Given the description of an element on the screen output the (x, y) to click on. 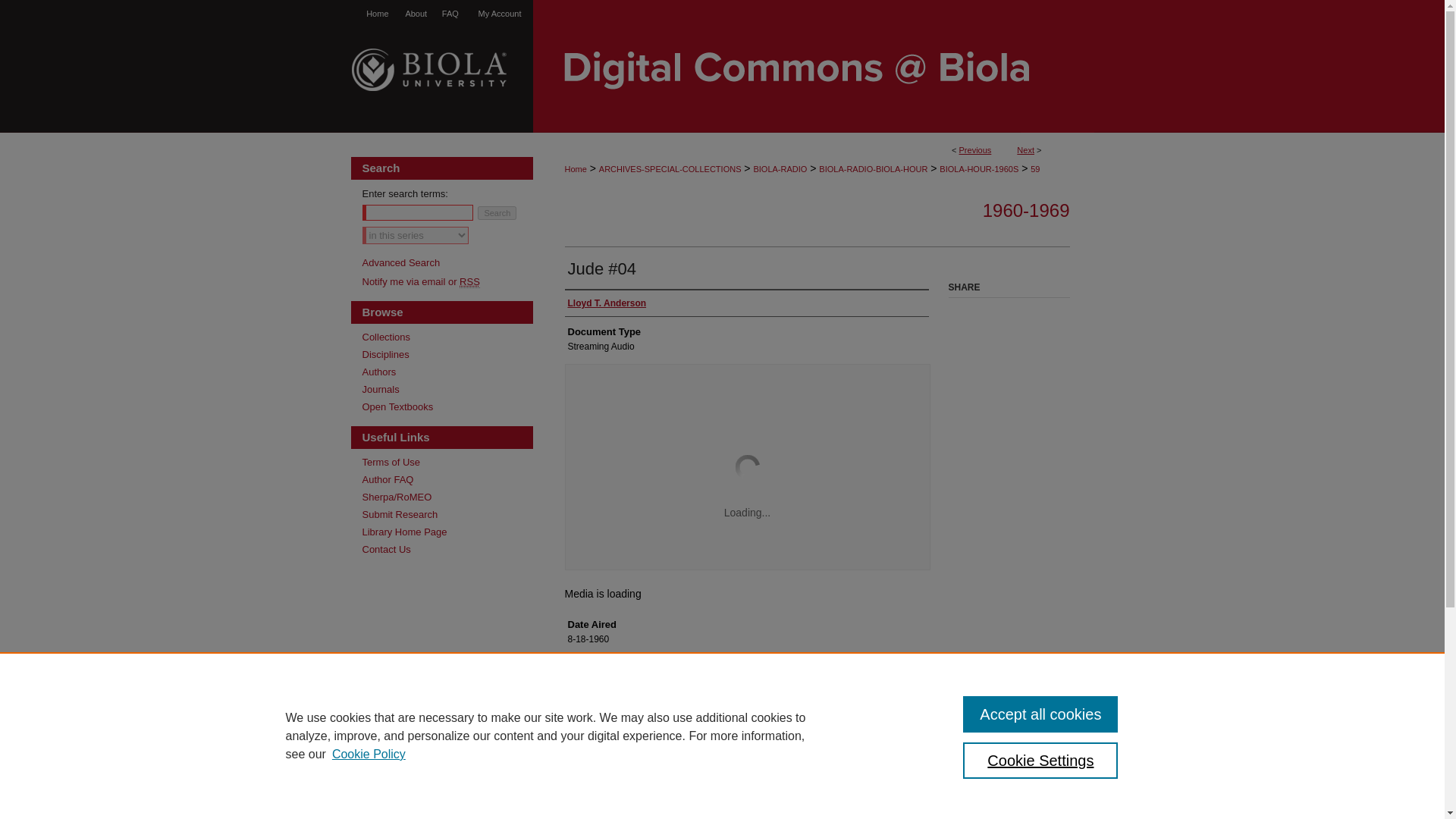
About (415, 13)
ARCHIVES-SPECIAL-COLLECTIONS (669, 168)
Lloyd T. Anderson (606, 303)
Previous (975, 149)
Open Textbooks (447, 406)
Advanced Search (401, 262)
BIOLA-HOUR-1960S (978, 168)
BIOLA-RADIO-BIOLA-HOUR (872, 168)
Journals (447, 389)
Next (1024, 149)
FAQ (449, 13)
Browse by Author (447, 371)
Browse by Disciplines (447, 354)
Email or RSS Notifications (447, 281)
Home (575, 168)
